Given the description of an element on the screen output the (x, y) to click on. 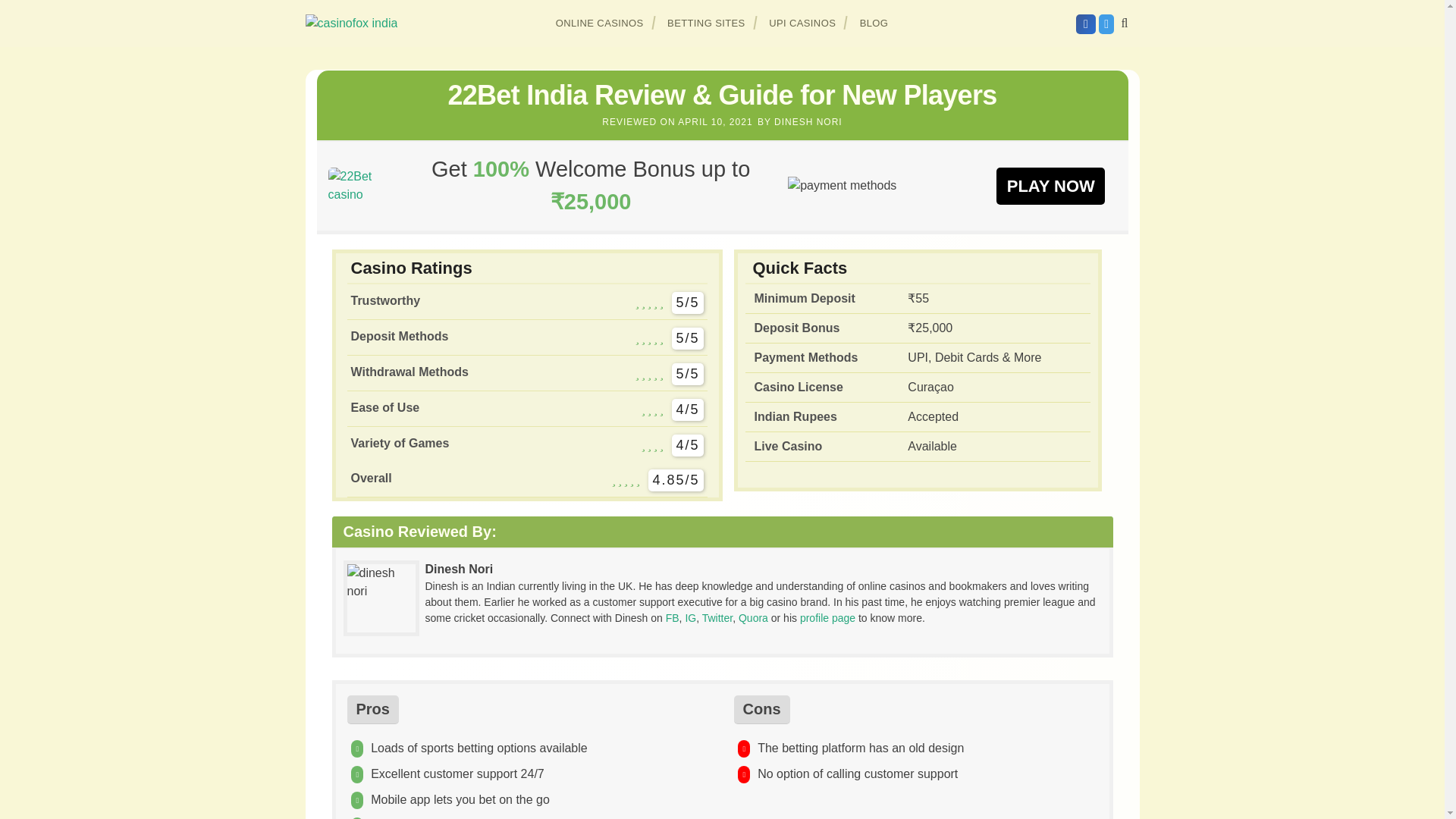
BLOG (874, 23)
BETTING SITES (706, 23)
PLAY NOW (1050, 185)
FB (672, 617)
Twitter (716, 617)
ONLINE CASINOS (599, 23)
IG (689, 617)
22Bet (1050, 185)
UPI CASINOS (801, 23)
22Bet (360, 185)
